Given the description of an element on the screen output the (x, y) to click on. 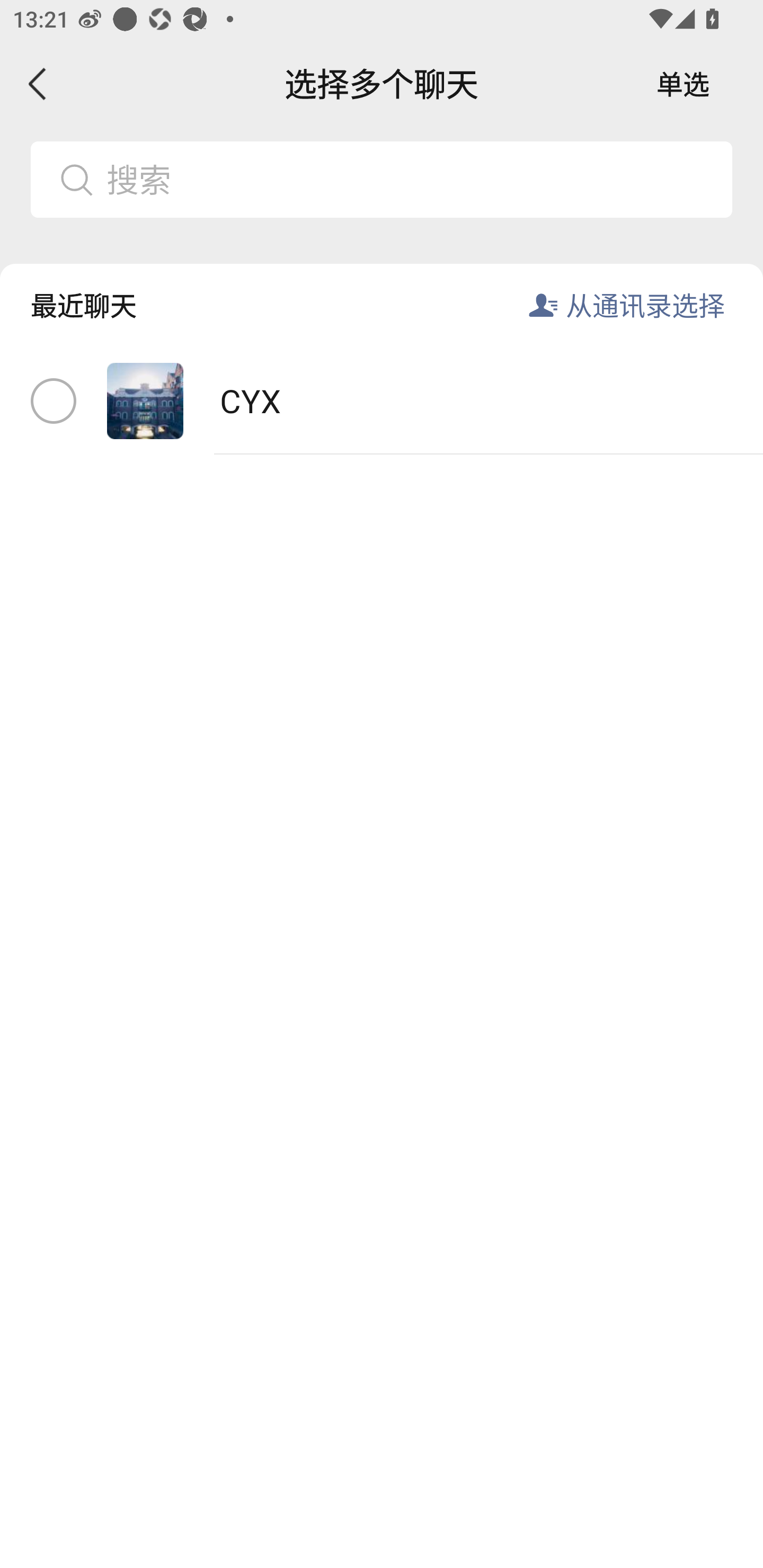
返回 (38, 83)
单选 (683, 83)
搜索 (411, 179)
从通讯录选择 (645, 304)
CYX (381, 401)
